Given the description of an element on the screen output the (x, y) to click on. 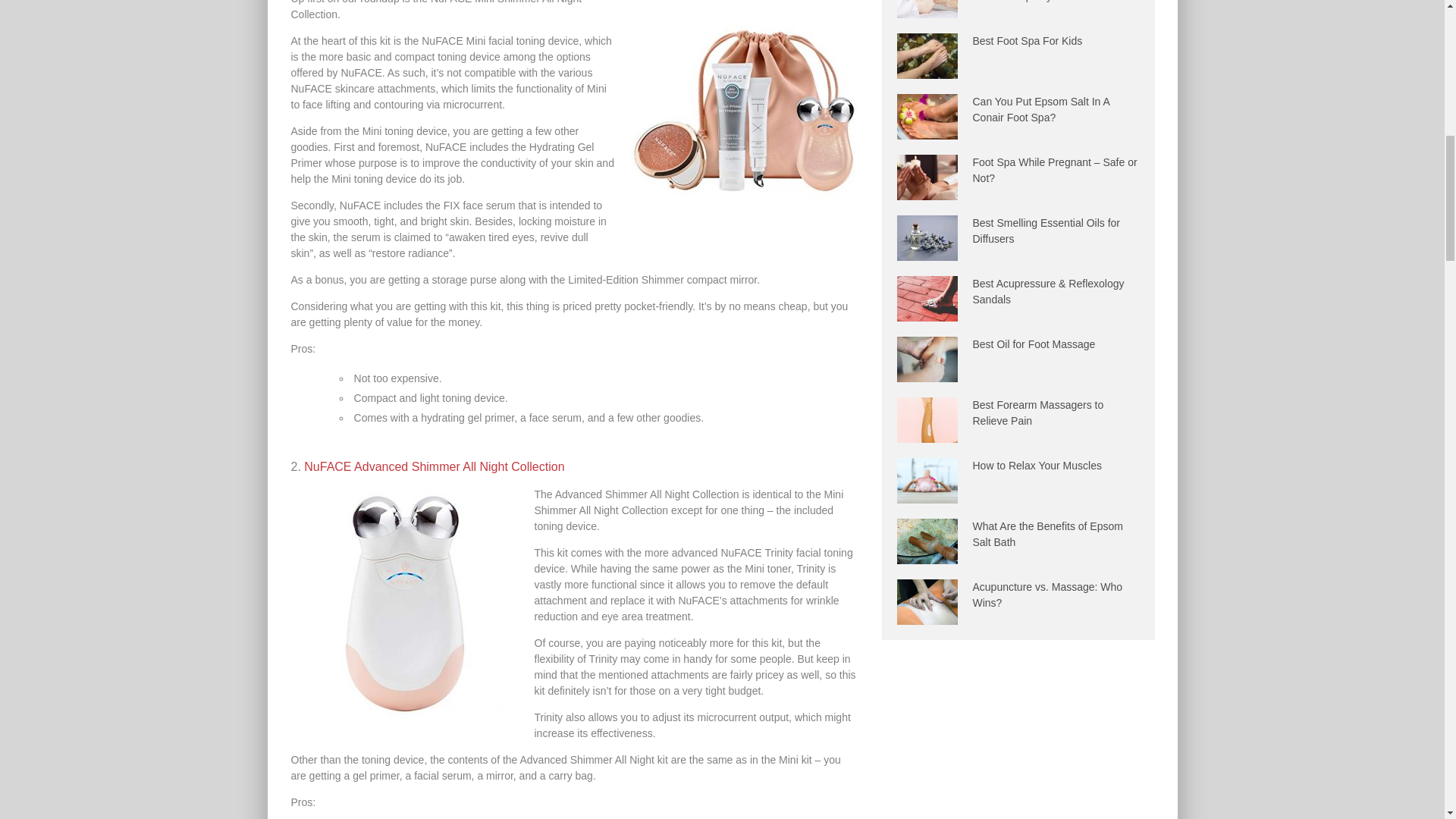
NuFACE Advanced Shimmer All Night Collection (434, 466)
